Given the description of an element on the screen output the (x, y) to click on. 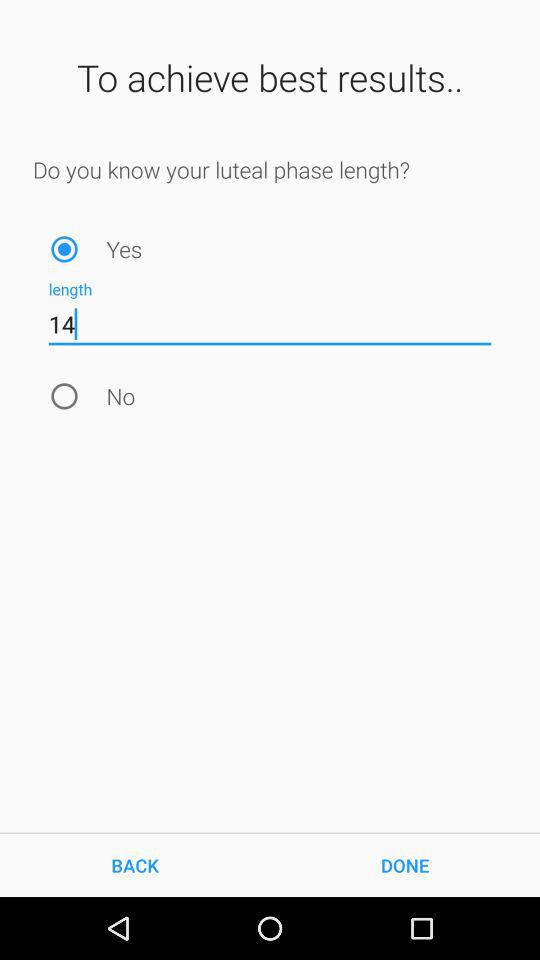
open item next to the no item (64, 395)
